Given the description of an element on the screen output the (x, y) to click on. 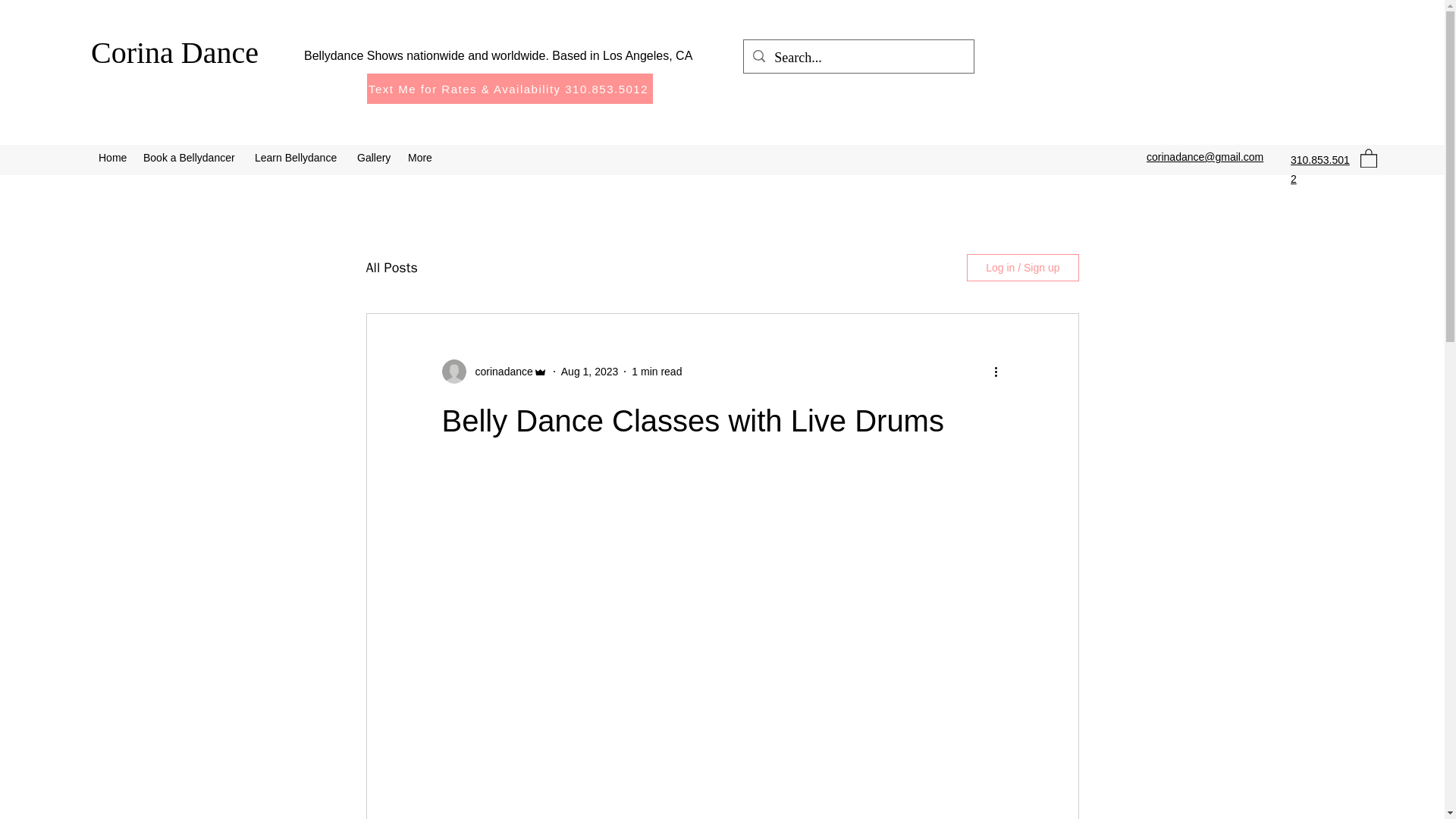
1 min read (656, 371)
Gallery (374, 157)
310.853.5012 (1319, 169)
Home (112, 157)
ricos-video (722, 576)
Book a Bellydancer (191, 157)
Aug 1, 2023 (589, 371)
All Posts (390, 267)
Learn Bellydance (298, 157)
corinadance (498, 371)
Corina Dance (174, 52)
